Given the description of an element on the screen output the (x, y) to click on. 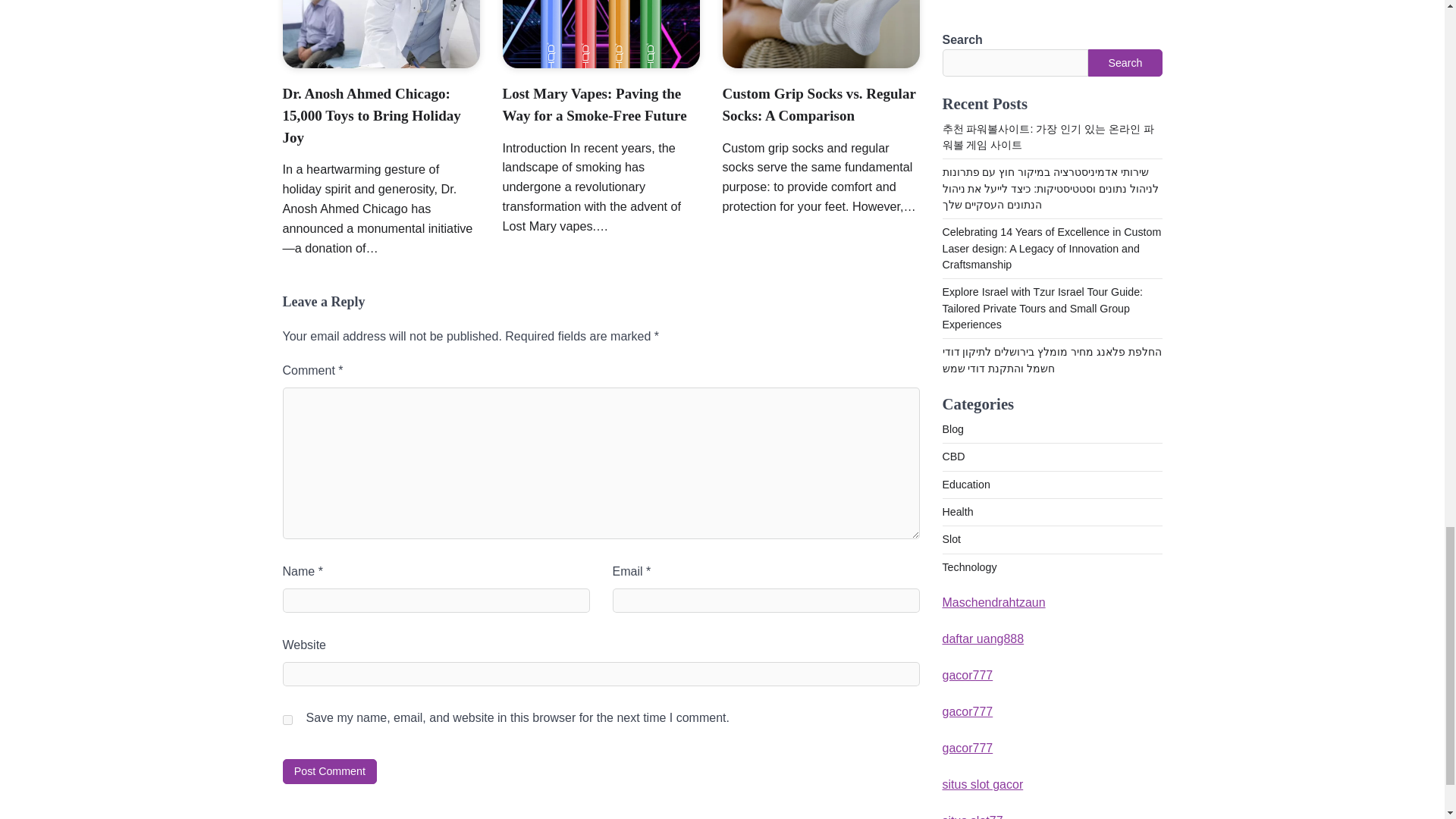
Post Comment (329, 771)
Dr. Anosh Ahmed Chicago: 15,000 Toys to Bring Holiday Joy (371, 114)
yes (287, 719)
Lost Mary Vapes: Paving the Way for a Smoke-Free Future (593, 104)
Post Comment (329, 771)
Custom Grip Socks vs. Regular Socks: A Comparison (818, 104)
